Given the description of an element on the screen output the (x, y) to click on. 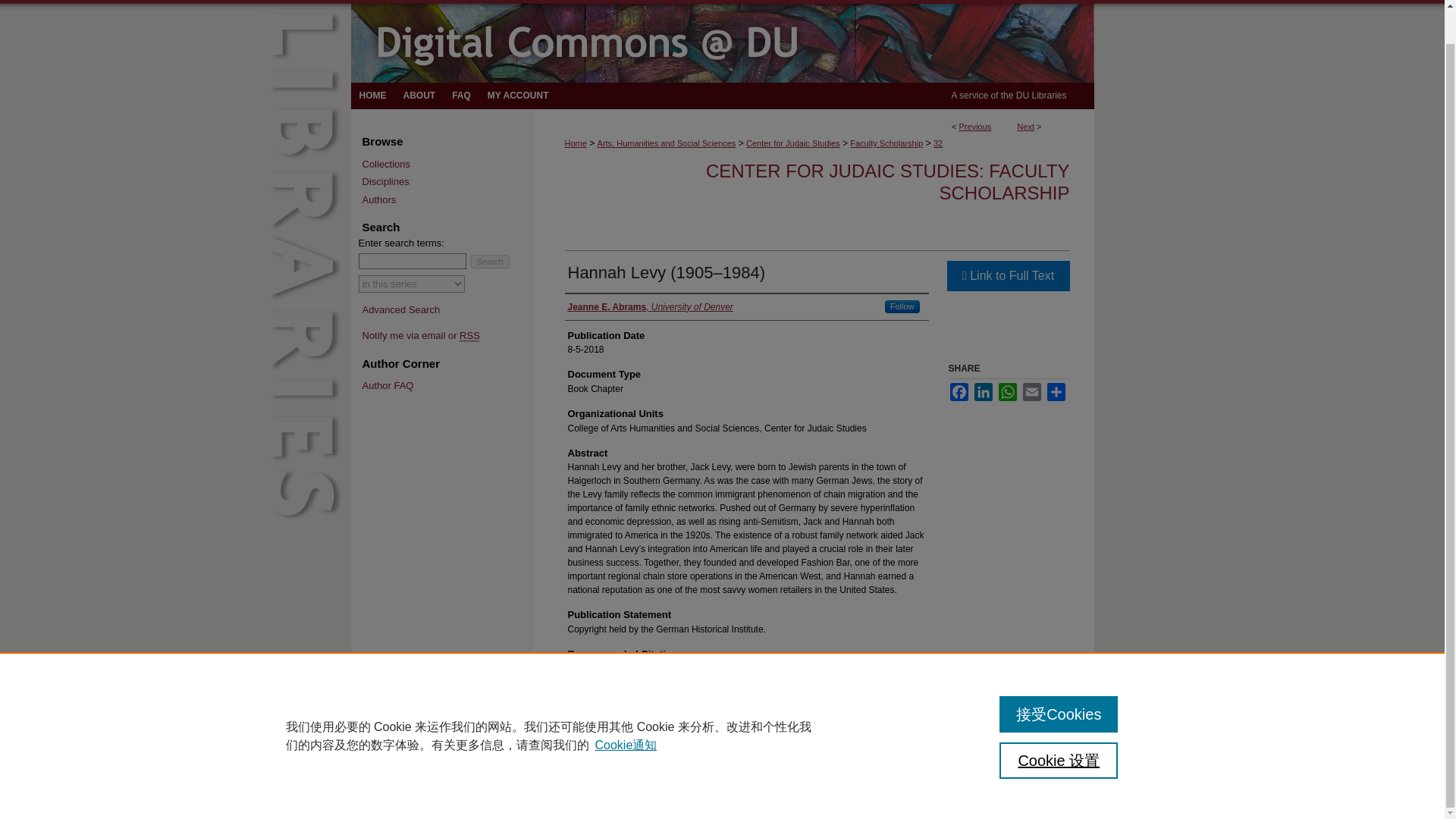
Browse by Collections (447, 163)
Jeanne E. Abrams, University of Denver (649, 306)
Home (372, 95)
Search (489, 261)
MY ACCOUNT (518, 95)
Notify me via email or RSS (447, 336)
University of Denver (441, 2)
32 (937, 143)
Author FAQ (447, 386)
Collections (447, 163)
ABOUT (419, 95)
Facebook (958, 392)
FAQ (461, 95)
Search (489, 261)
Browse by Author (447, 200)
